Given the description of an element on the screen output the (x, y) to click on. 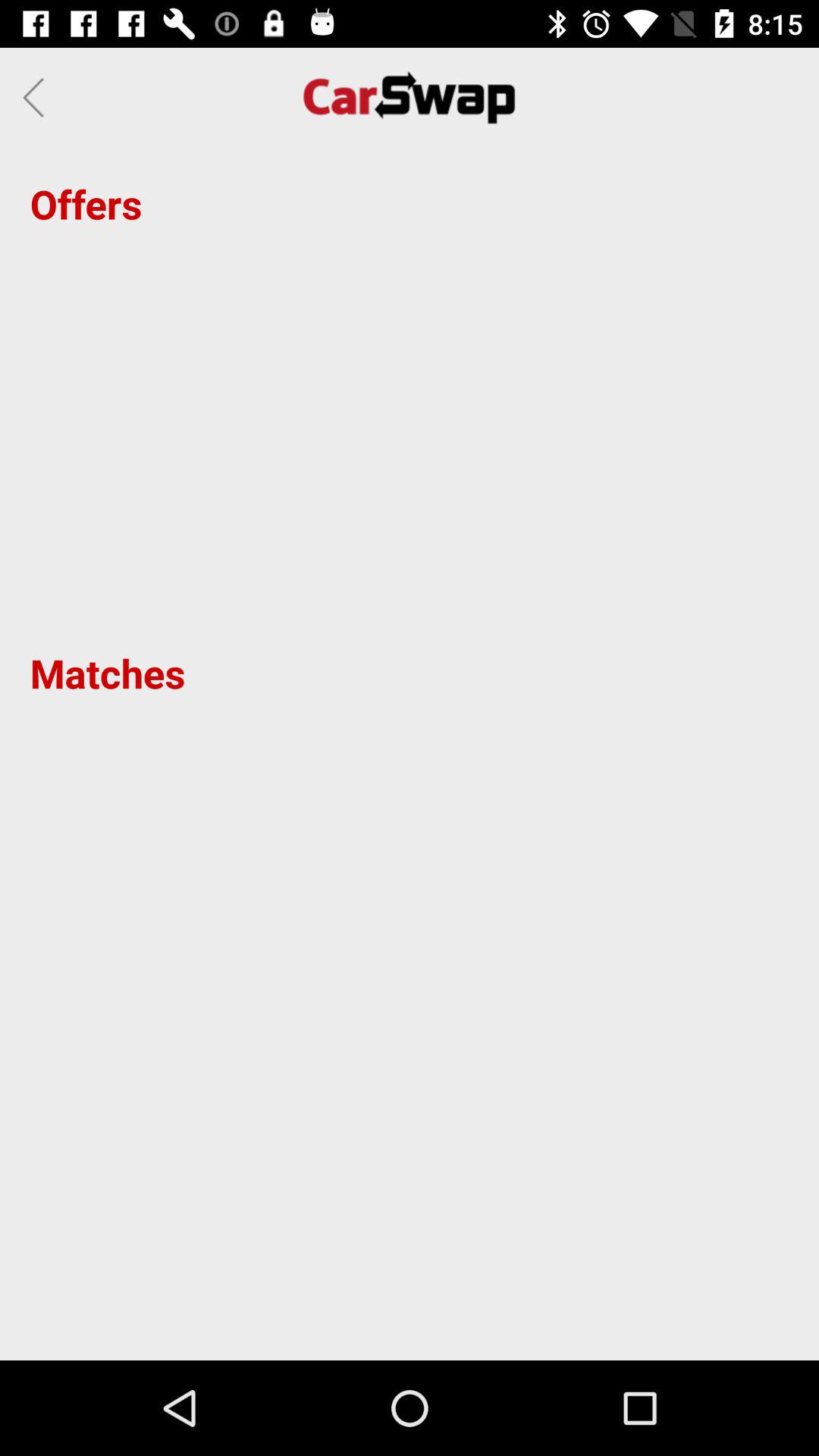
open app above offers item (38, 97)
